Given the description of an element on the screen output the (x, y) to click on. 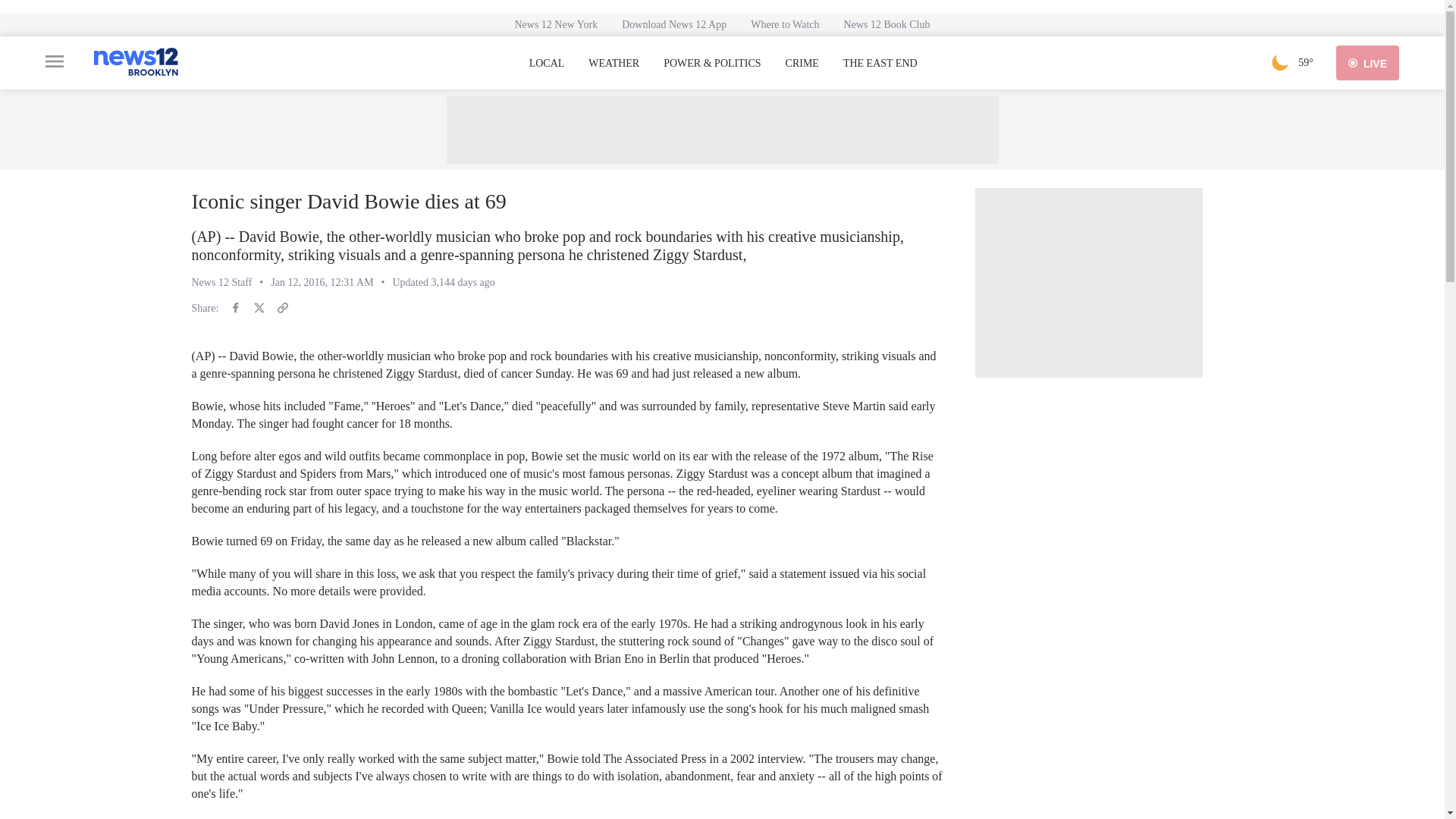
Where to Watch (784, 24)
News 12 Book Club (886, 24)
Clear (1280, 62)
LOCAL (546, 63)
News 12 New York (556, 24)
Download News 12 App (673, 24)
CRIME (802, 63)
THE EAST END (880, 63)
LIVE (1367, 62)
WEATHER (613, 63)
